Given the description of an element on the screen output the (x, y) to click on. 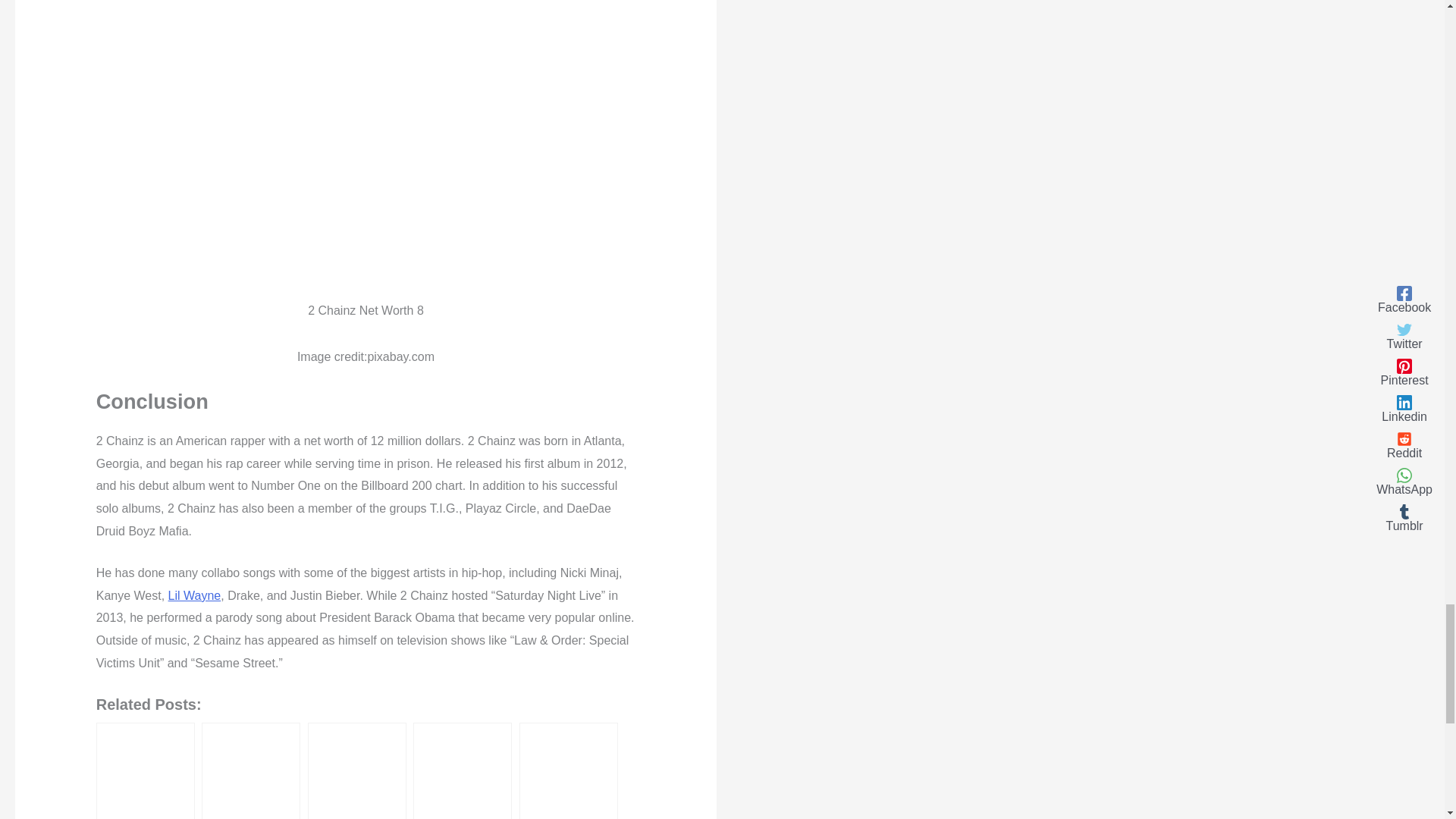
Ray J Net Worth (250, 770)
desi arnaz jr. net worth 11 (358, 772)
Desi Arnaz Jr. Net Worth (356, 770)
Lil Wayne (194, 594)
shania twain net worth 9 (146, 772)
Shania Twain Net Worth (145, 770)
ray j net worth 10 (251, 772)
